Given the description of an element on the screen output the (x, y) to click on. 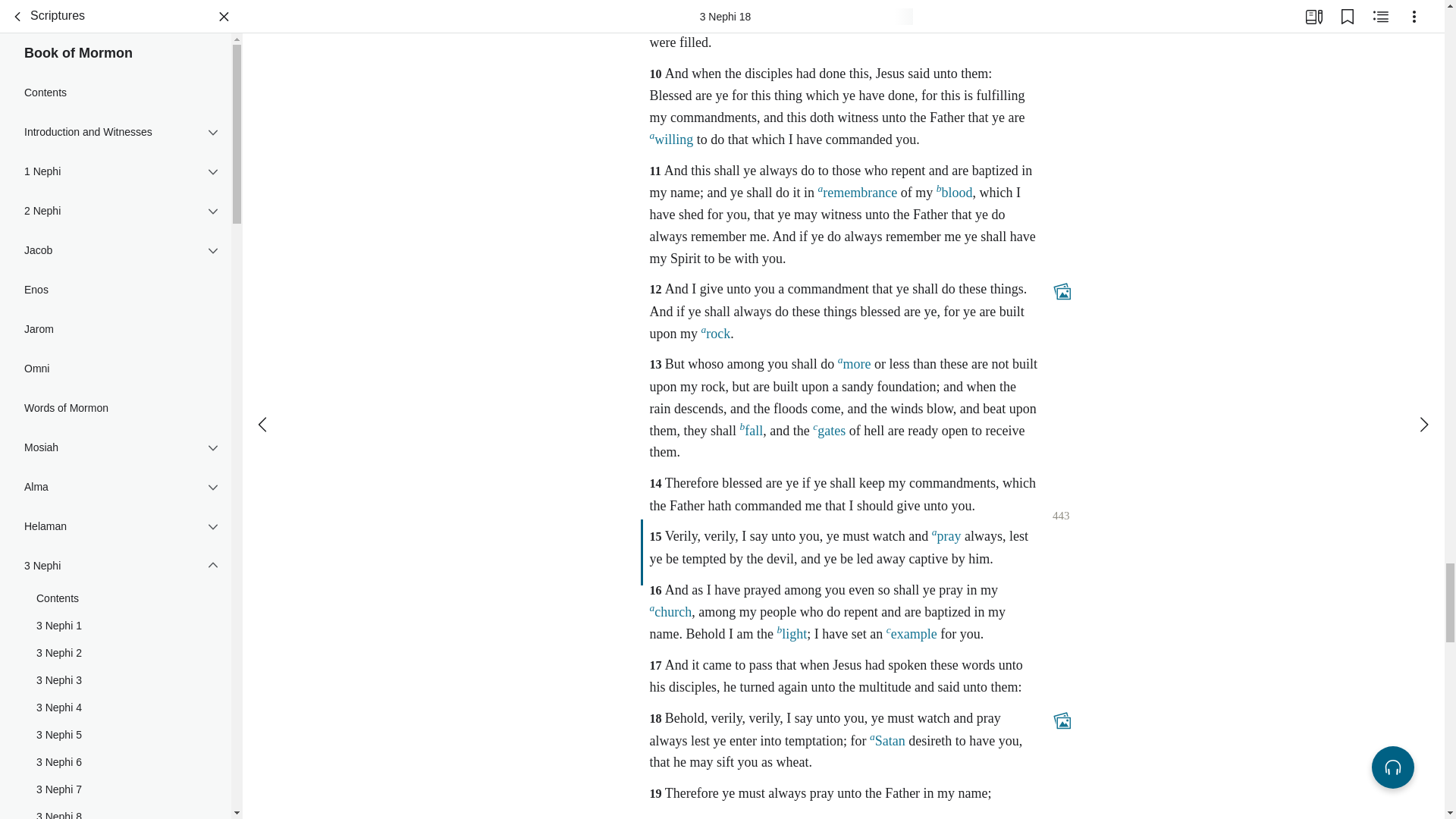
3 Nephi 9 (115, 13)
3 Nephi 20 (115, 314)
3 Nephi 13 (115, 123)
3 Nephi 24 (115, 423)
3 Nephi 11 (115, 68)
3 Nephi 10 (115, 41)
3 Nephi 12 (115, 95)
3 Nephi 25 (115, 451)
3 Nephi 15 (115, 177)
3 Nephi 18 (115, 259)
